Given the description of an element on the screen output the (x, y) to click on. 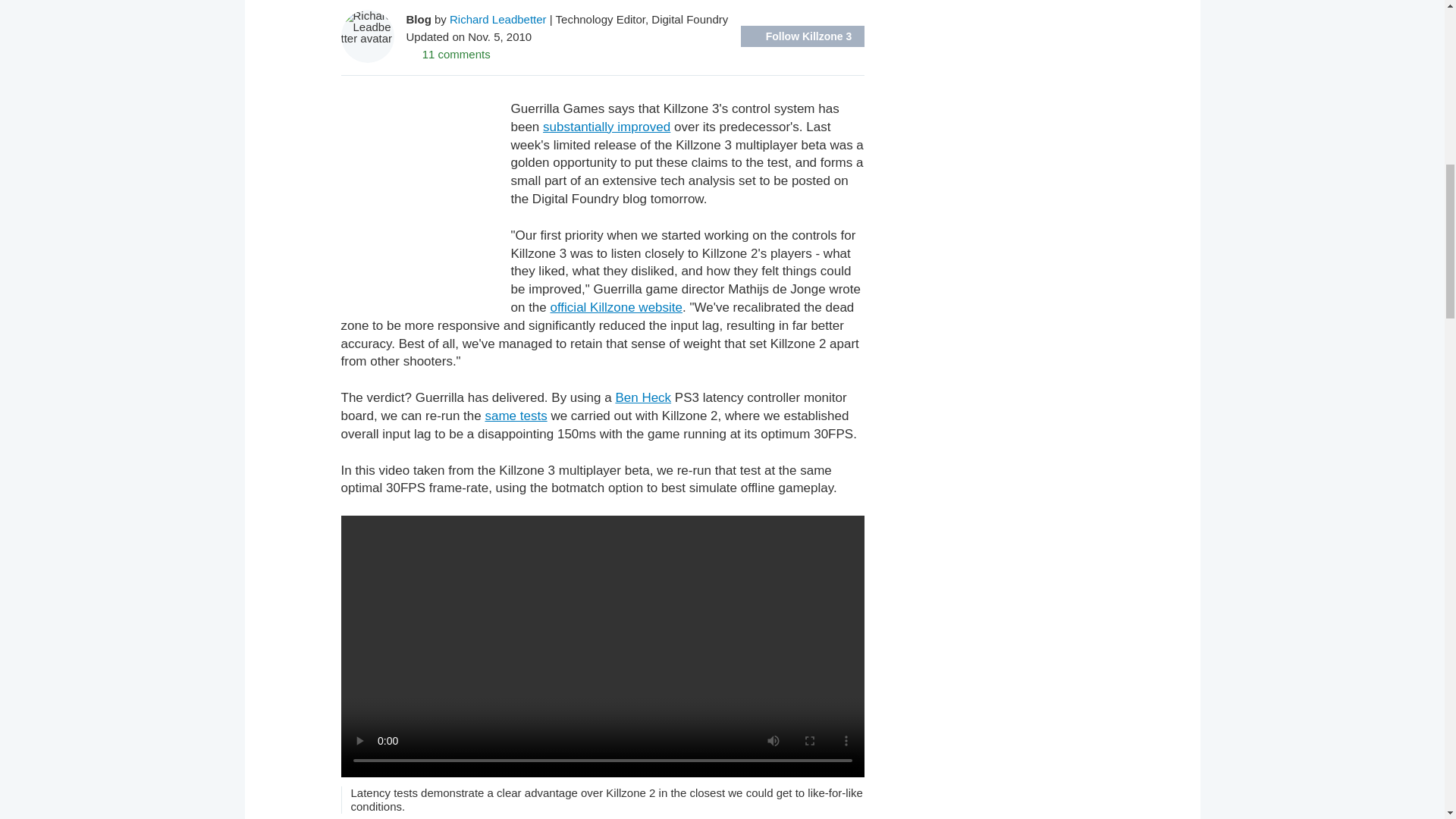
substantially improved (606, 126)
Richard Leadbetter (498, 18)
official Killzone website (616, 307)
same tests (515, 415)
Follow Killzone 3 (801, 35)
Ben Heck (642, 397)
11 comments (448, 52)
